Given the description of an element on the screen output the (x, y) to click on. 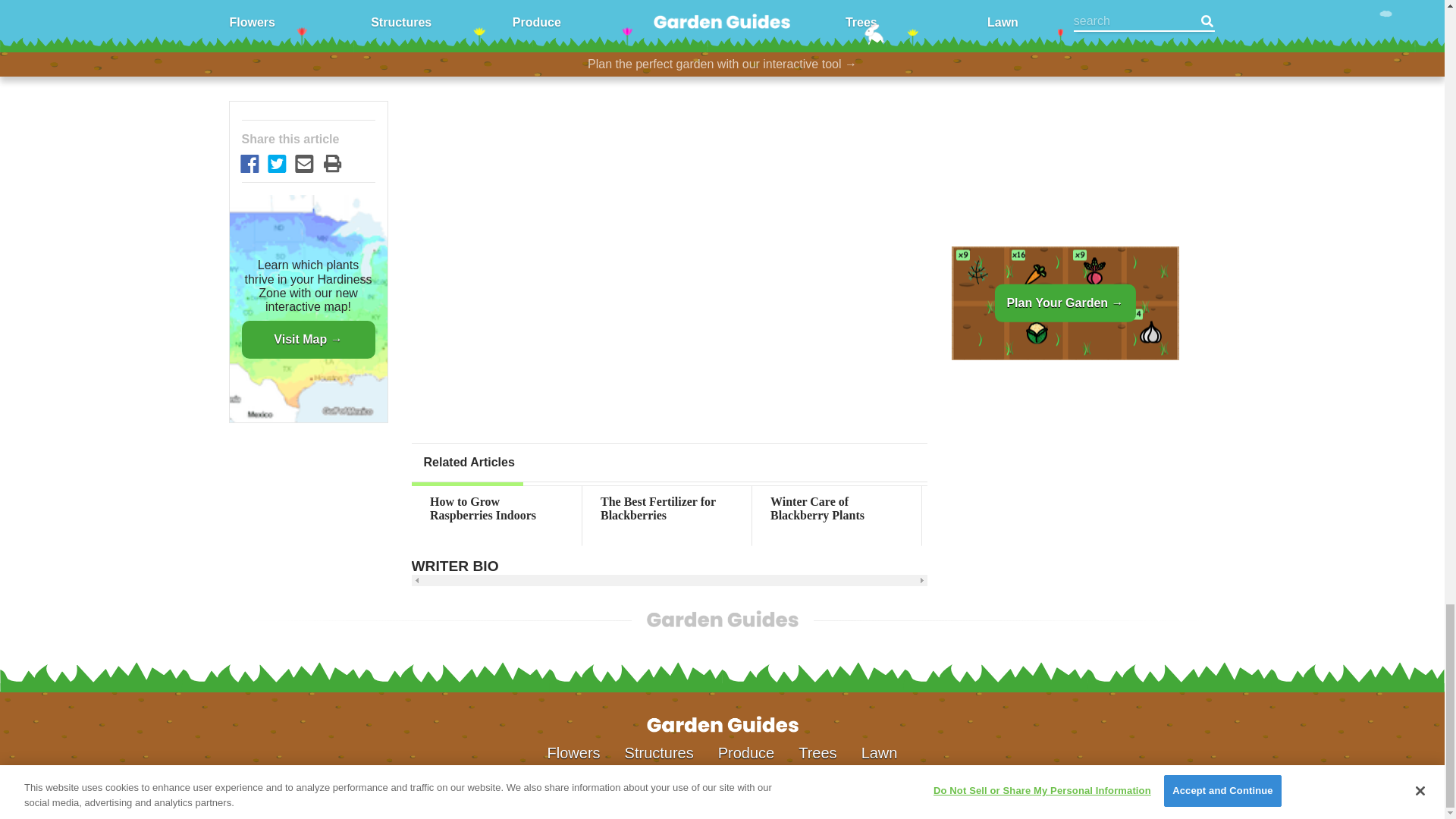
The Best Fertilizer for Blackberries (666, 509)
How to Grow Fruit Trees in Louisiana (1346, 509)
How to Fertilize Blackberries (1176, 509)
How to Grow Raspberries Indoors (495, 509)
Winter Care of Blackberry Plants (836, 509)
How to Feed Blackberry Bushes (1005, 509)
Flowers (573, 752)
